Given the description of an element on the screen output the (x, y) to click on. 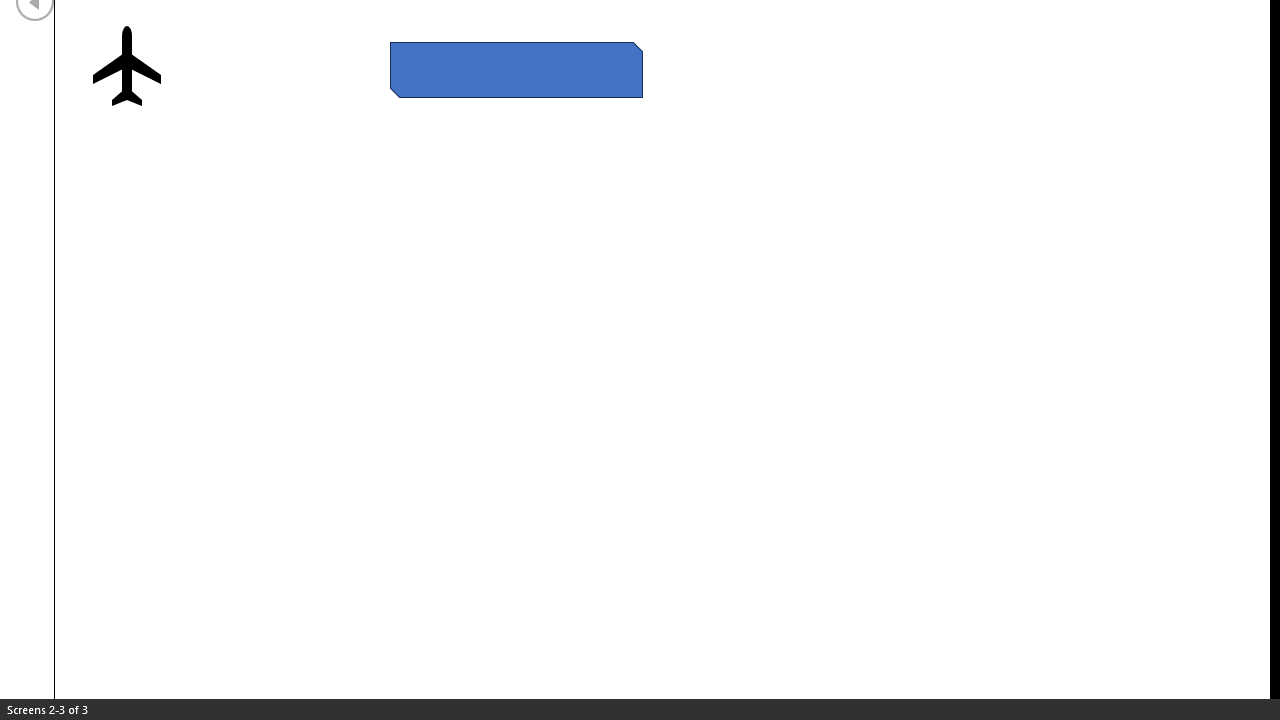
Rectangle: Diagonal Corners Snipped 2 (515, 69)
Airplane with solid fill (126, 65)
